Given the description of an element on the screen output the (x, y) to click on. 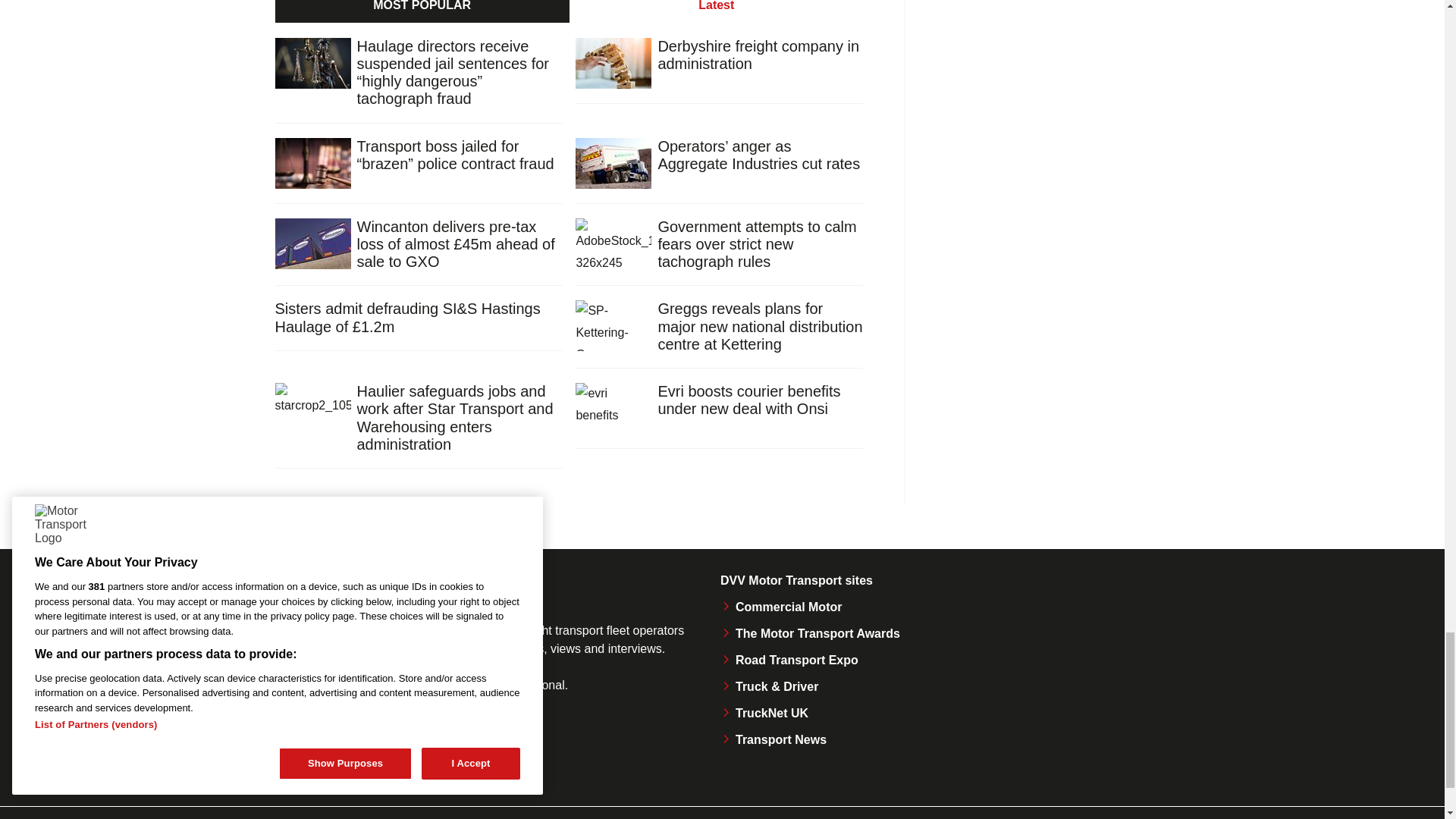
Connect with us on Linked in (387, 751)
Connect with us on Twitter (336, 751)
Connect with us on Facebook (284, 751)
Email us (438, 751)
